Given the description of an element on the screen output the (x, y) to click on. 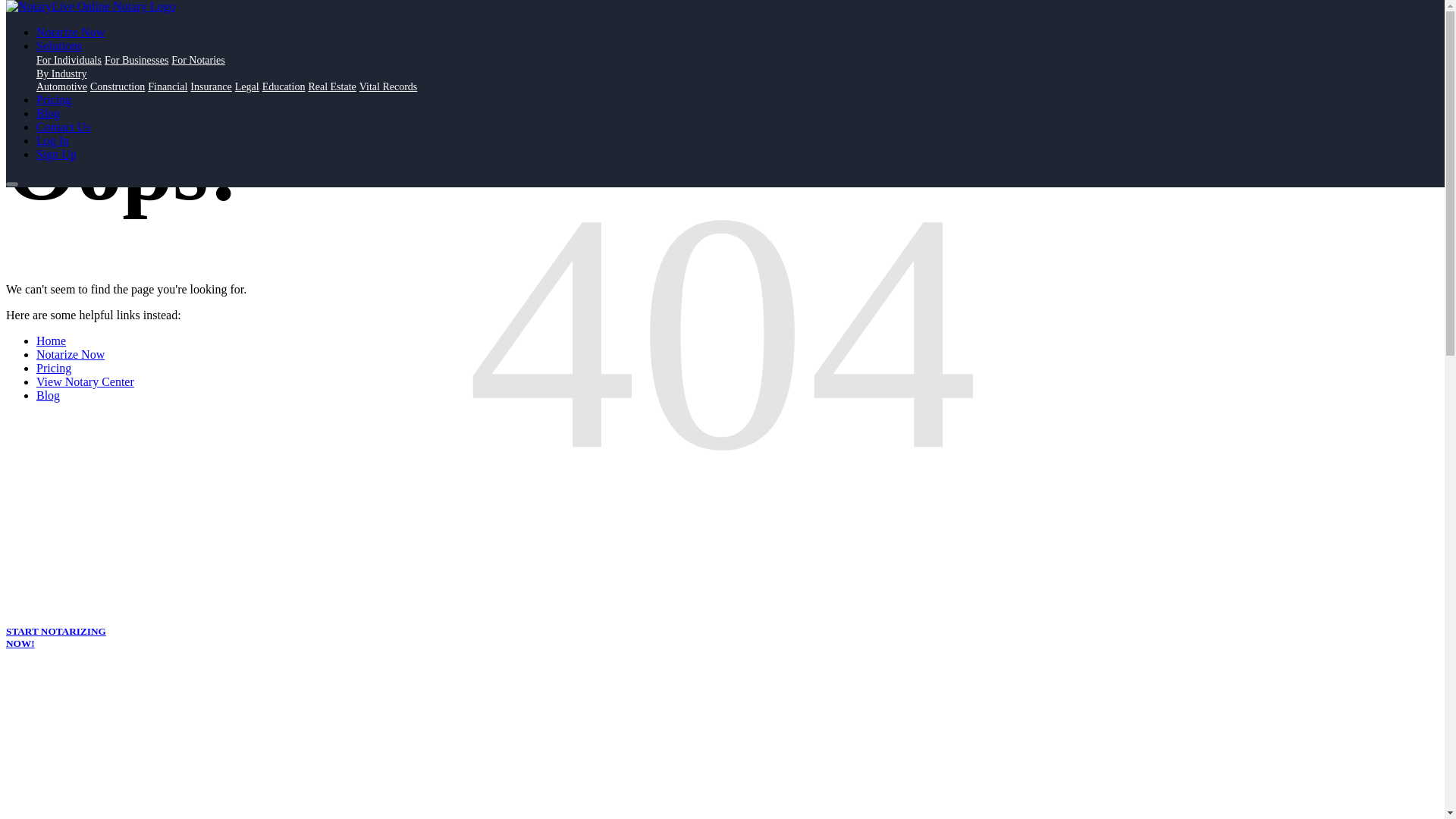
Blog (47, 113)
Financial (167, 86)
Legal (246, 86)
Education (283, 86)
For Businesses (136, 60)
Real Estate (331, 86)
Contact Us (63, 126)
Construction (117, 86)
Log In (52, 140)
Pricing (53, 99)
